Given the description of an element on the screen output the (x, y) to click on. 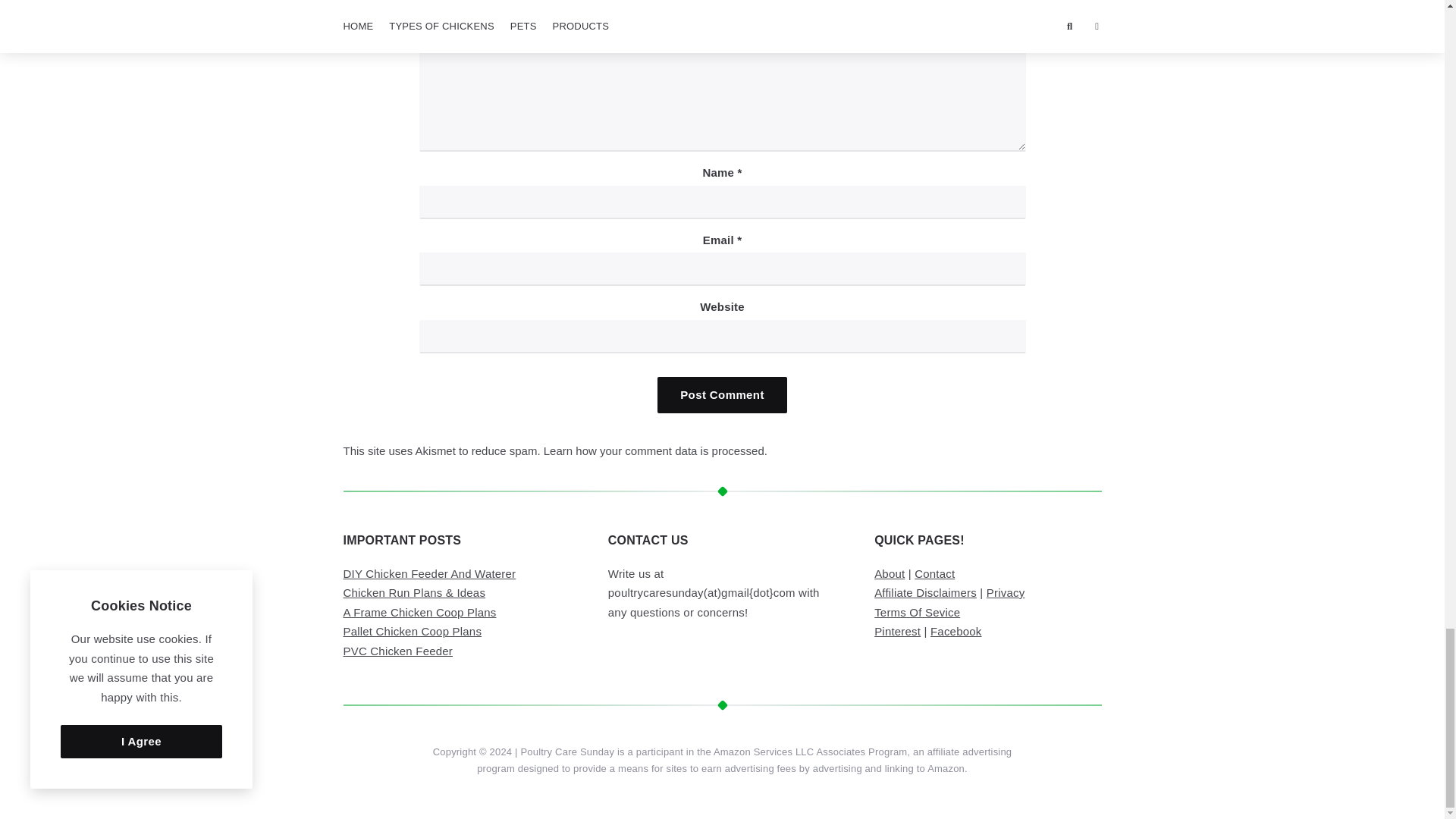
Post comment (722, 394)
